Given the description of an element on the screen output the (x, y) to click on. 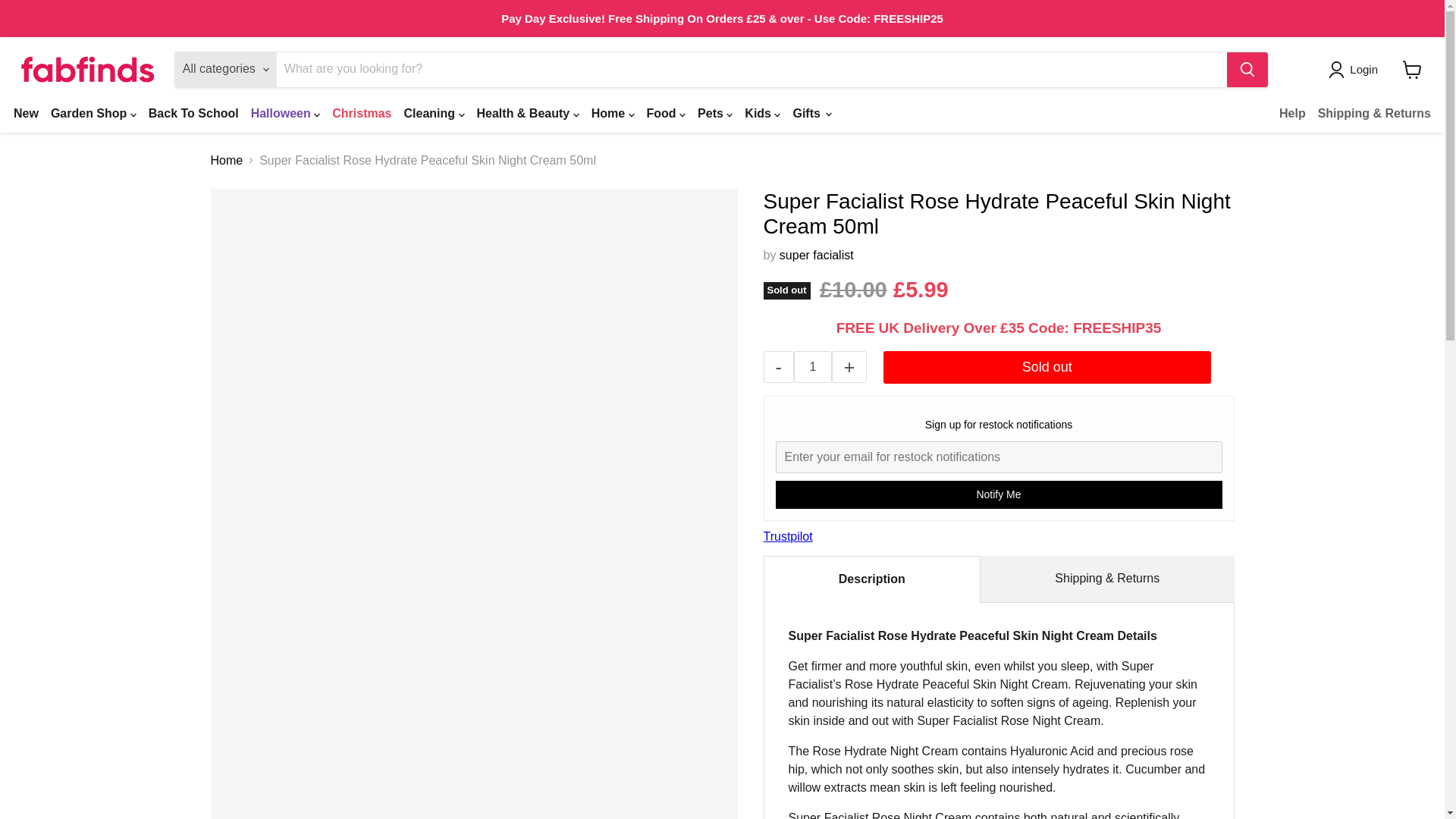
New (26, 112)
View cart (1411, 69)
Login (1363, 69)
Back To School (193, 112)
1 (812, 367)
super facialist (815, 254)
